Given the description of an element on the screen output the (x, y) to click on. 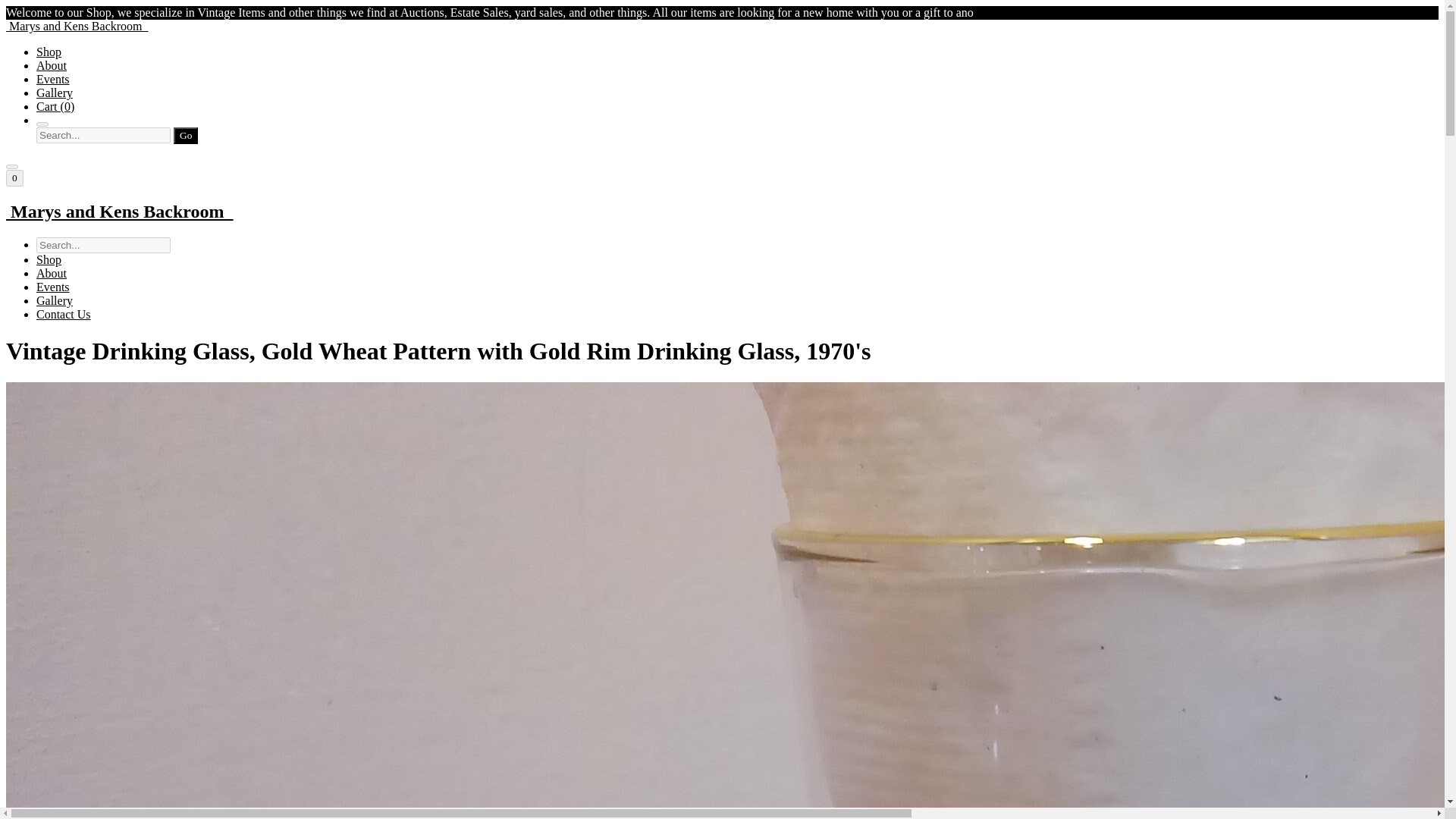
Go (185, 135)
Shop (48, 51)
Shop (48, 259)
Gallery (54, 92)
Events (52, 78)
Gallery (54, 300)
About (51, 273)
About (51, 65)
Contact Us (63, 314)
Go (185, 135)
Events (52, 286)
 Marys and Kens Backroom   (721, 211)
0 (14, 177)
